Given the description of an element on the screen output the (x, y) to click on. 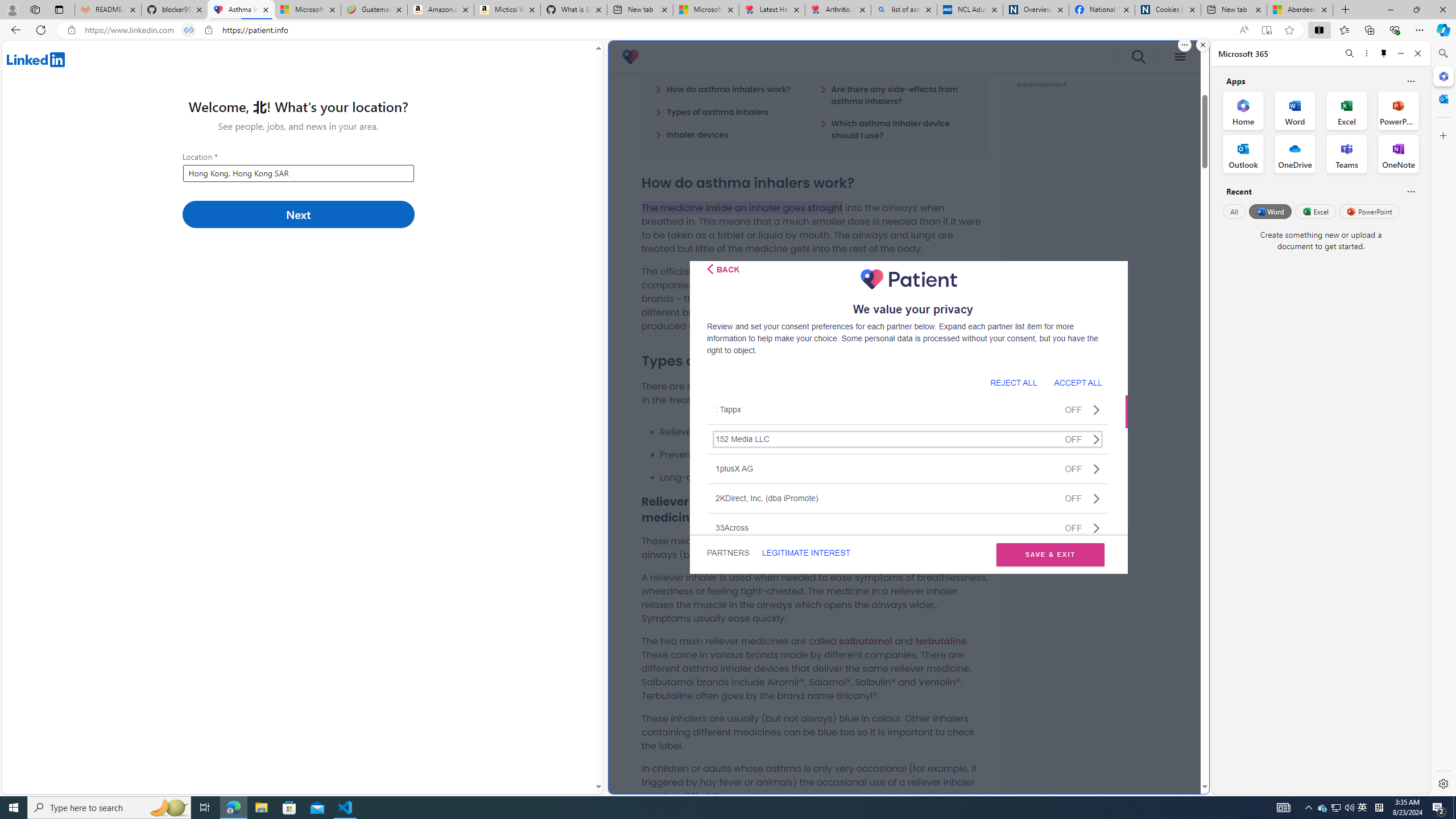
Enter Immersive Reader (F9) (1266, 29)
menu icon (1179, 56)
Split screen (1318, 29)
Outlook Office App (1243, 154)
Workspaces (34, 9)
More options (1366, 53)
: TappxOFF (907, 409)
Teams Office App (1346, 154)
Settings and more (Alt+F) (1419, 29)
App bar (728, 29)
Unpin side pane (1383, 53)
Preventers (steroid inhalers). (823, 454)
152 Media LLCOFF (907, 438)
Class: css-i5klq5 (710, 268)
Patient 3.0 (630, 56)
